Given the description of an element on the screen output the (x, y) to click on. 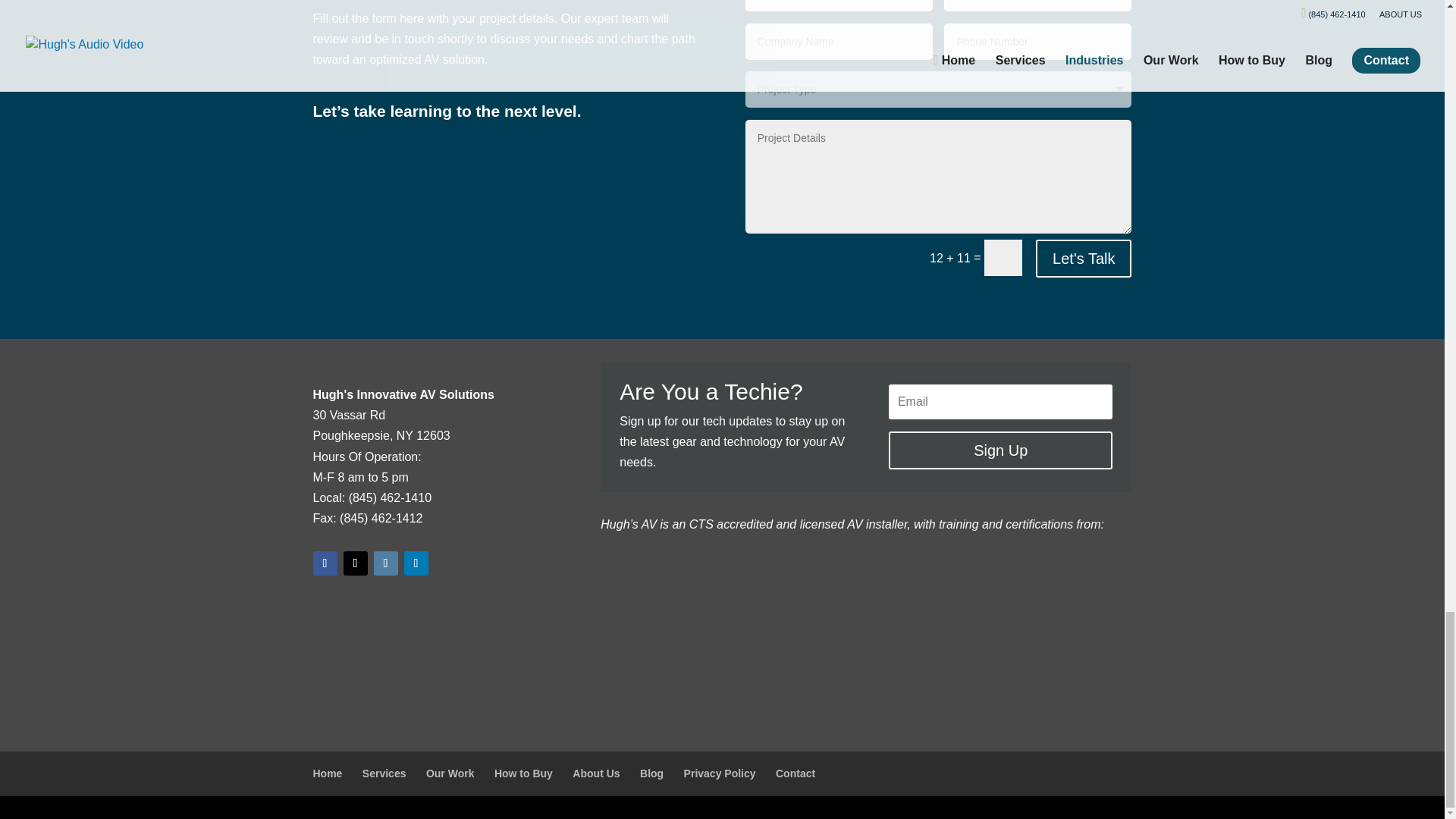
Follow on Instagram (384, 563)
Follow on Facebook (324, 563)
Follow on LinkedIn (415, 563)
Let's Talk (1083, 258)
Our Work (450, 773)
Services (384, 773)
Follow on Twitter (354, 563)
Home (327, 773)
How to Buy (524, 773)
Sign Up (1000, 450)
About Us (596, 773)
